Given the description of an element on the screen output the (x, y) to click on. 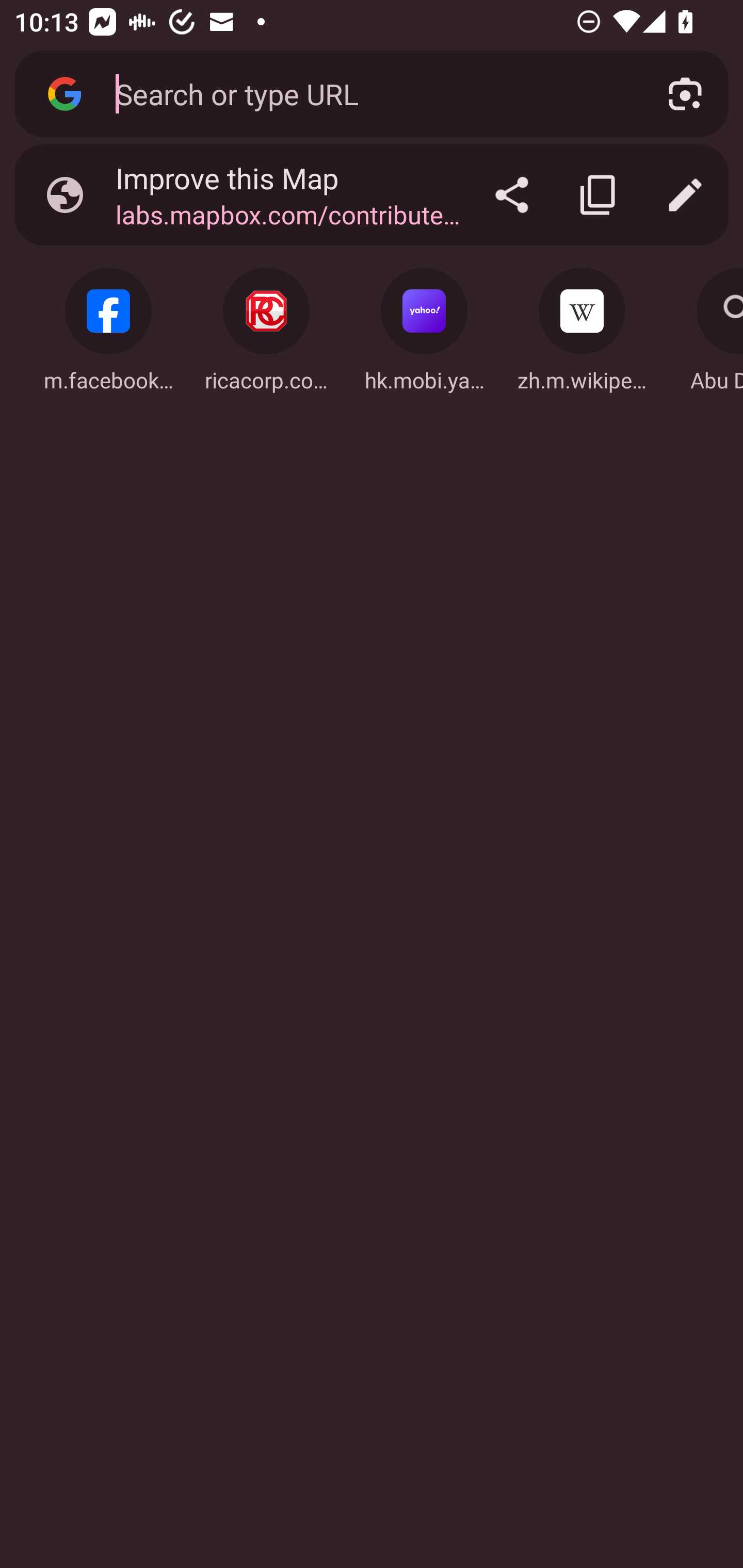
Search with your camera using Google Lens (684, 93)
Search or type URL (367, 92)
Share… (511, 195)
Copy link (598, 195)
Edit (684, 195)
